Given the description of an element on the screen output the (x, y) to click on. 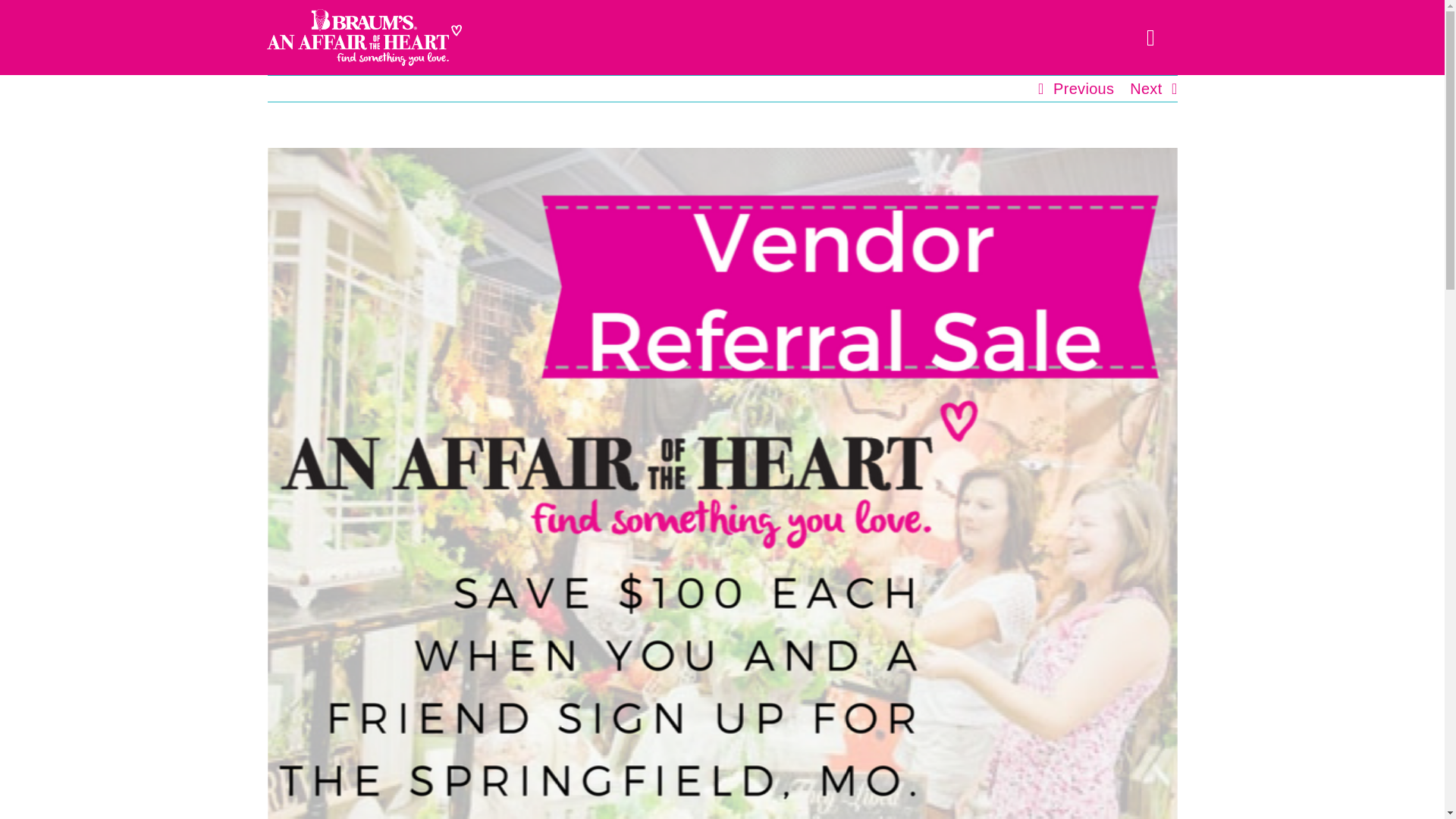
Previous (1082, 88)
Next (1145, 88)
Toggle Navigation (1150, 37)
